Given the description of an element on the screen output the (x, y) to click on. 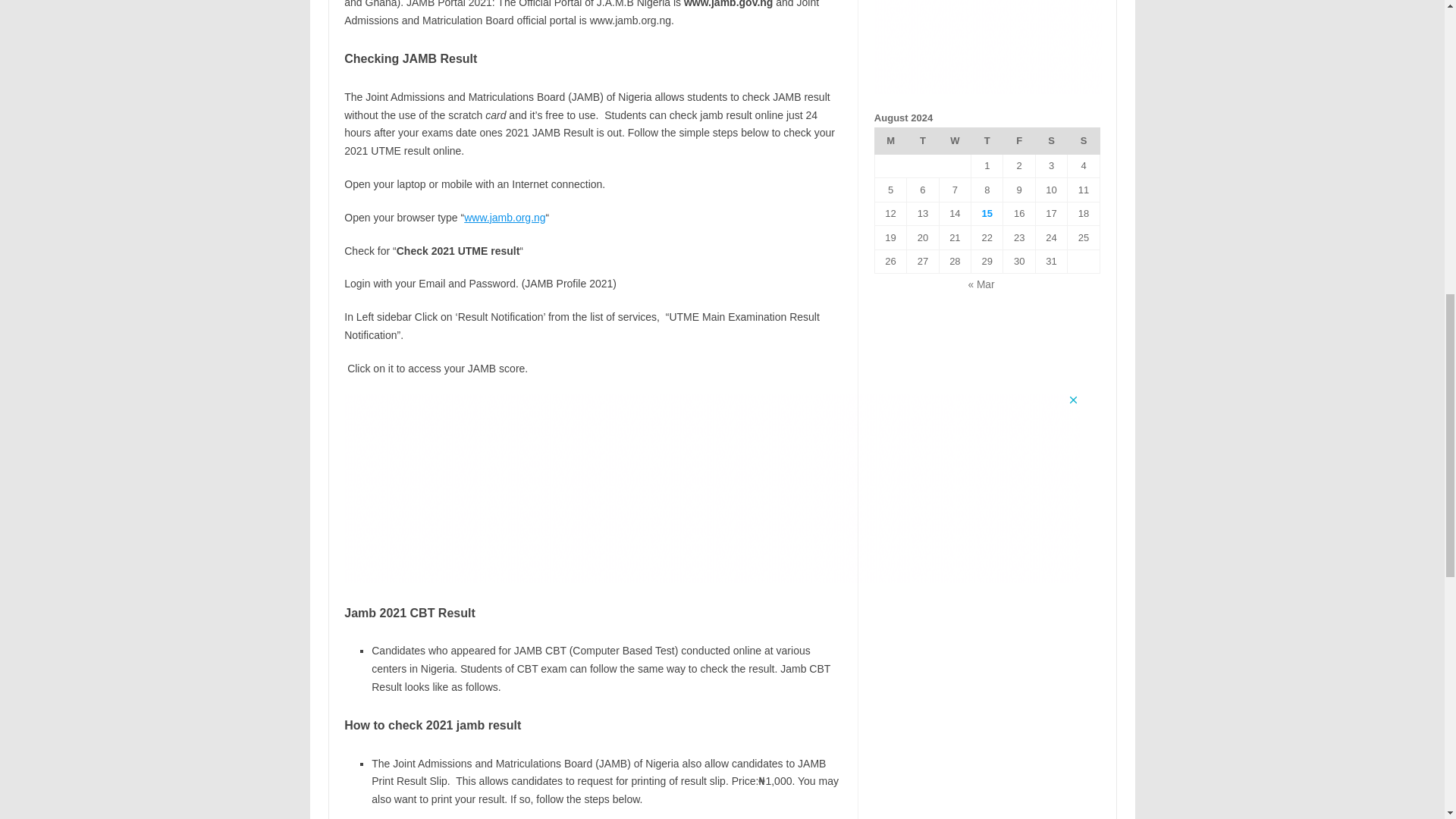
Monday (890, 140)
Friday (1019, 140)
3rd party ad content (988, 47)
Wednesday (955, 140)
Saturday (1051, 140)
Tuesday (923, 140)
Thursday (987, 140)
Sunday (1083, 140)
www.jamb.org.ng (504, 217)
